Given the description of an element on the screen output the (x, y) to click on. 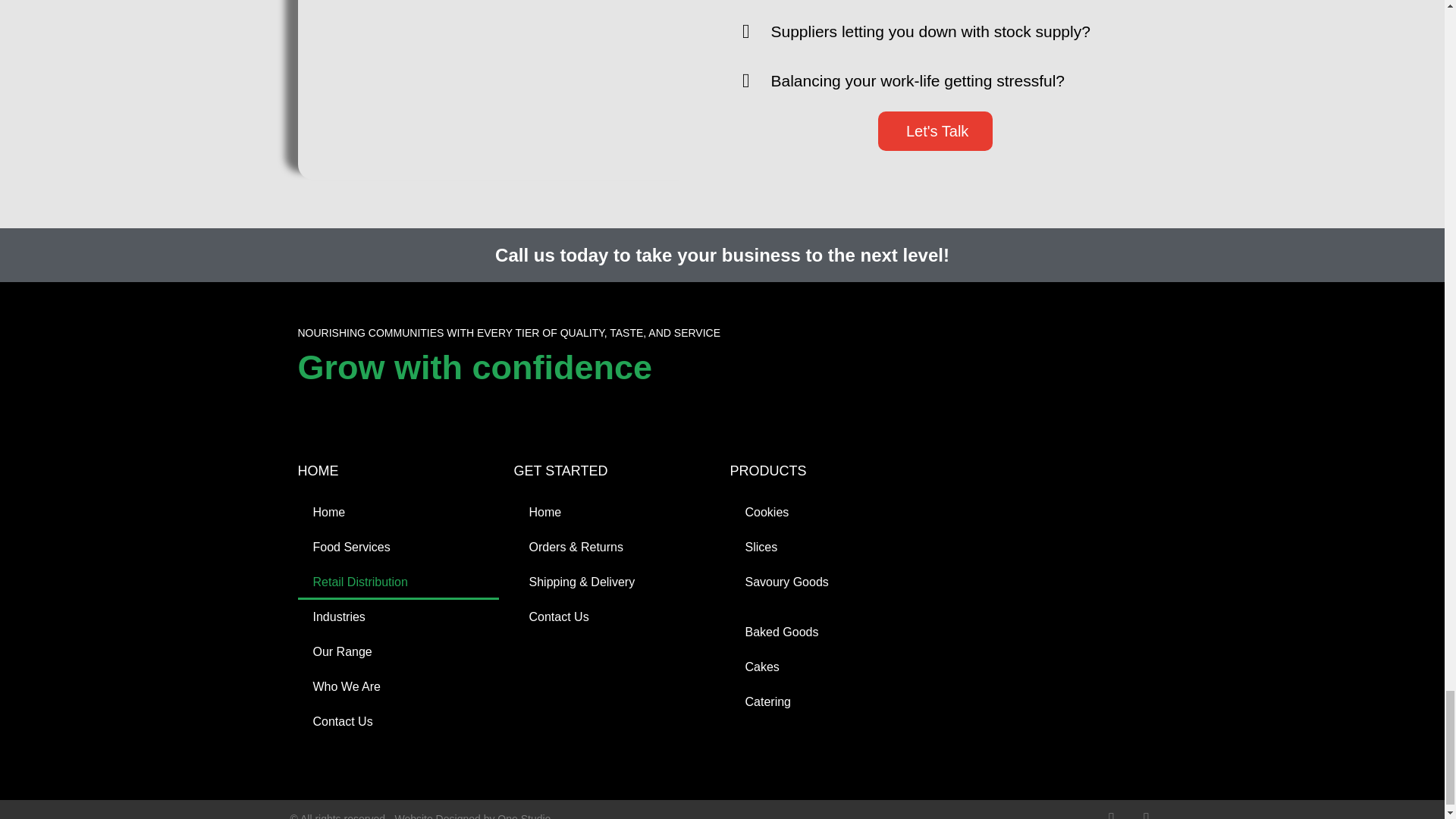
Food Services (397, 547)
Retail Distribution (397, 582)
Who We Are (397, 686)
Let's Talk (934, 130)
Home (397, 512)
Our Range (397, 651)
Industries (397, 616)
